Given the description of an element on the screen output the (x, y) to click on. 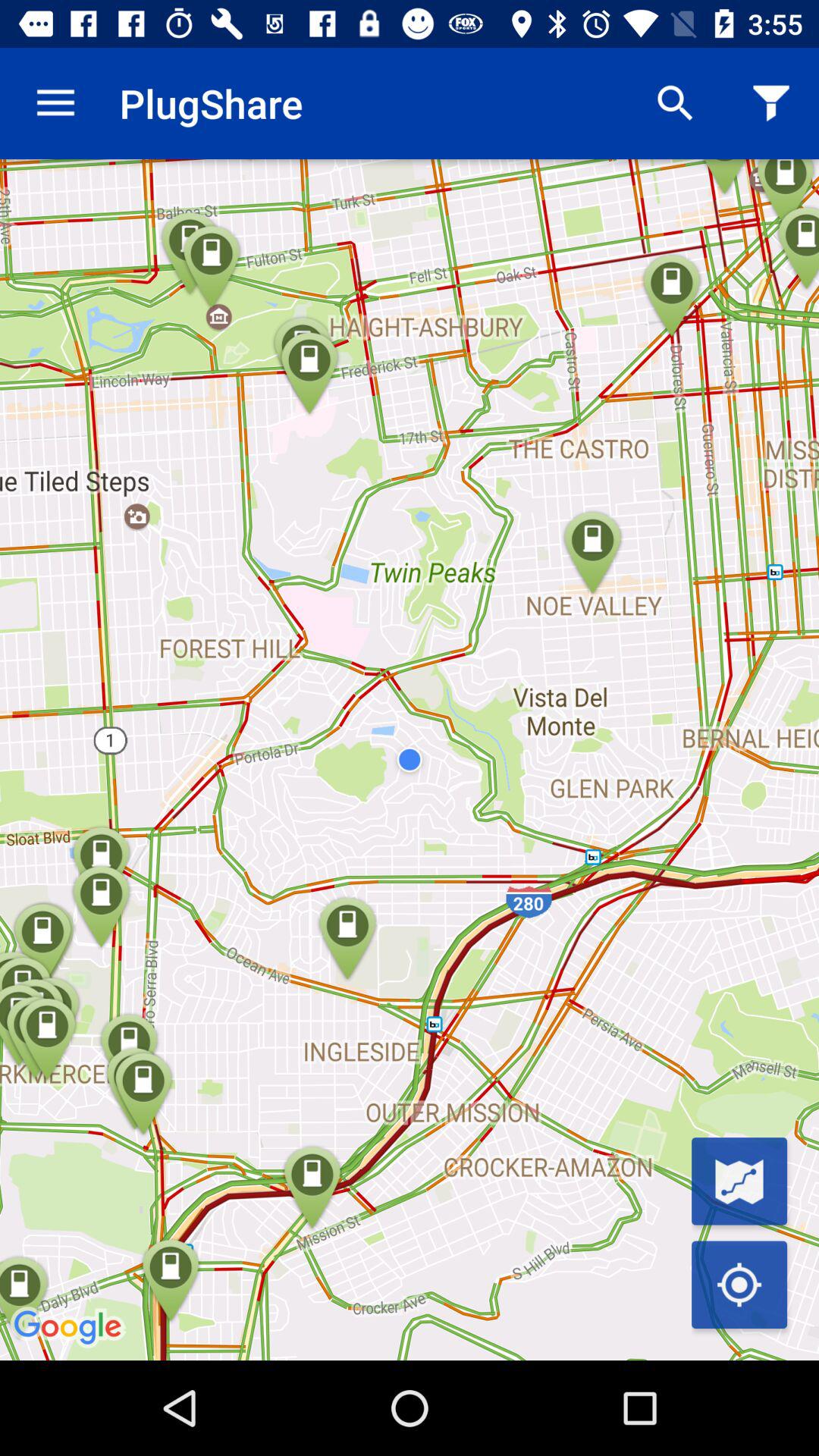
add waypoint (739, 1181)
